Given the description of an element on the screen output the (x, y) to click on. 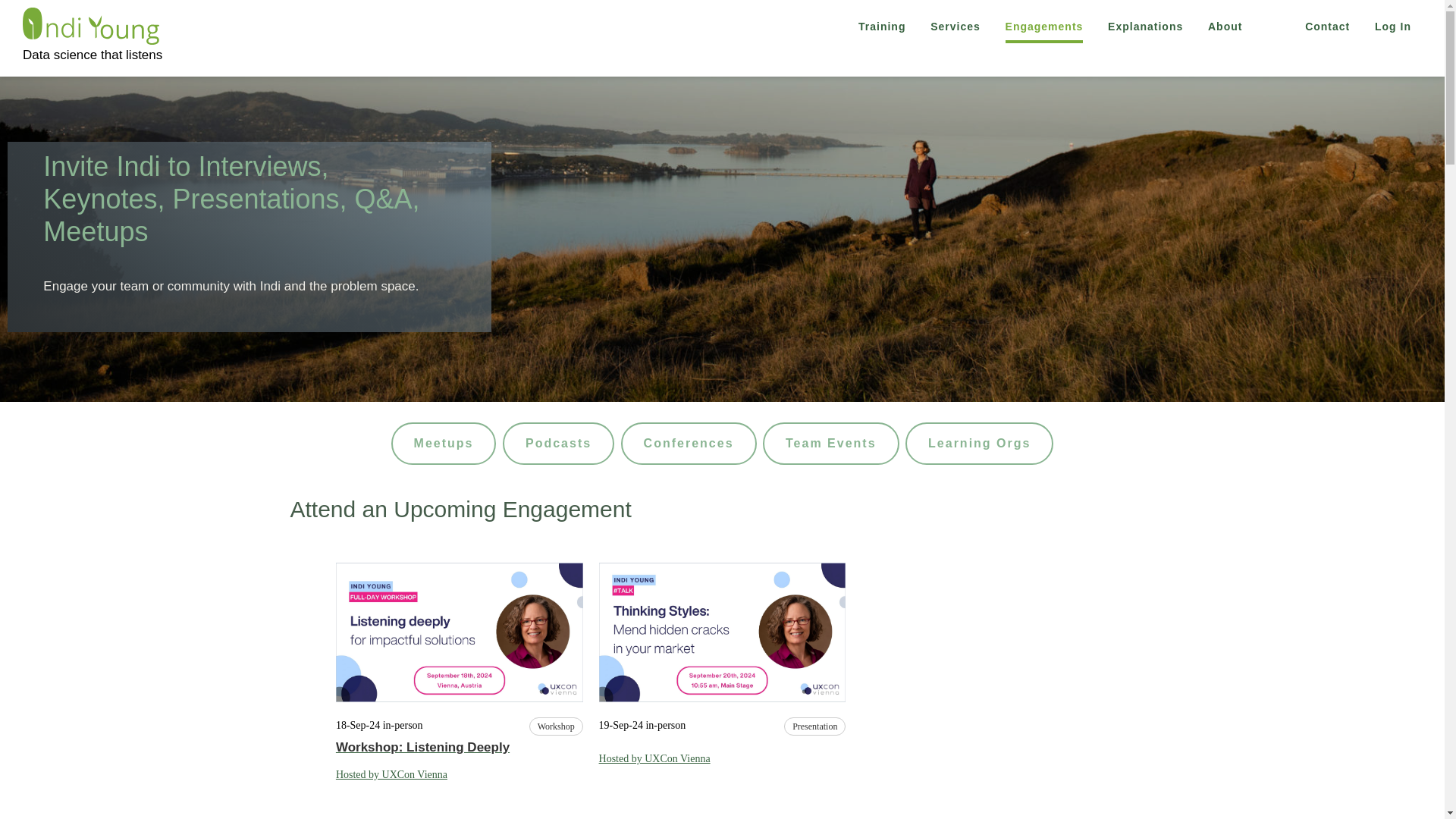
Meetups (443, 443)
Services (955, 26)
Learning Orgs (978, 443)
Podcasts (558, 443)
Log In (1393, 26)
Hosted by UXCon Vienna (654, 758)
Training (881, 26)
Team Events (830, 443)
Hosted by UXCon Vienna (391, 774)
Hosted by UXCon Vienna (391, 774)
